Given the description of an element on the screen output the (x, y) to click on. 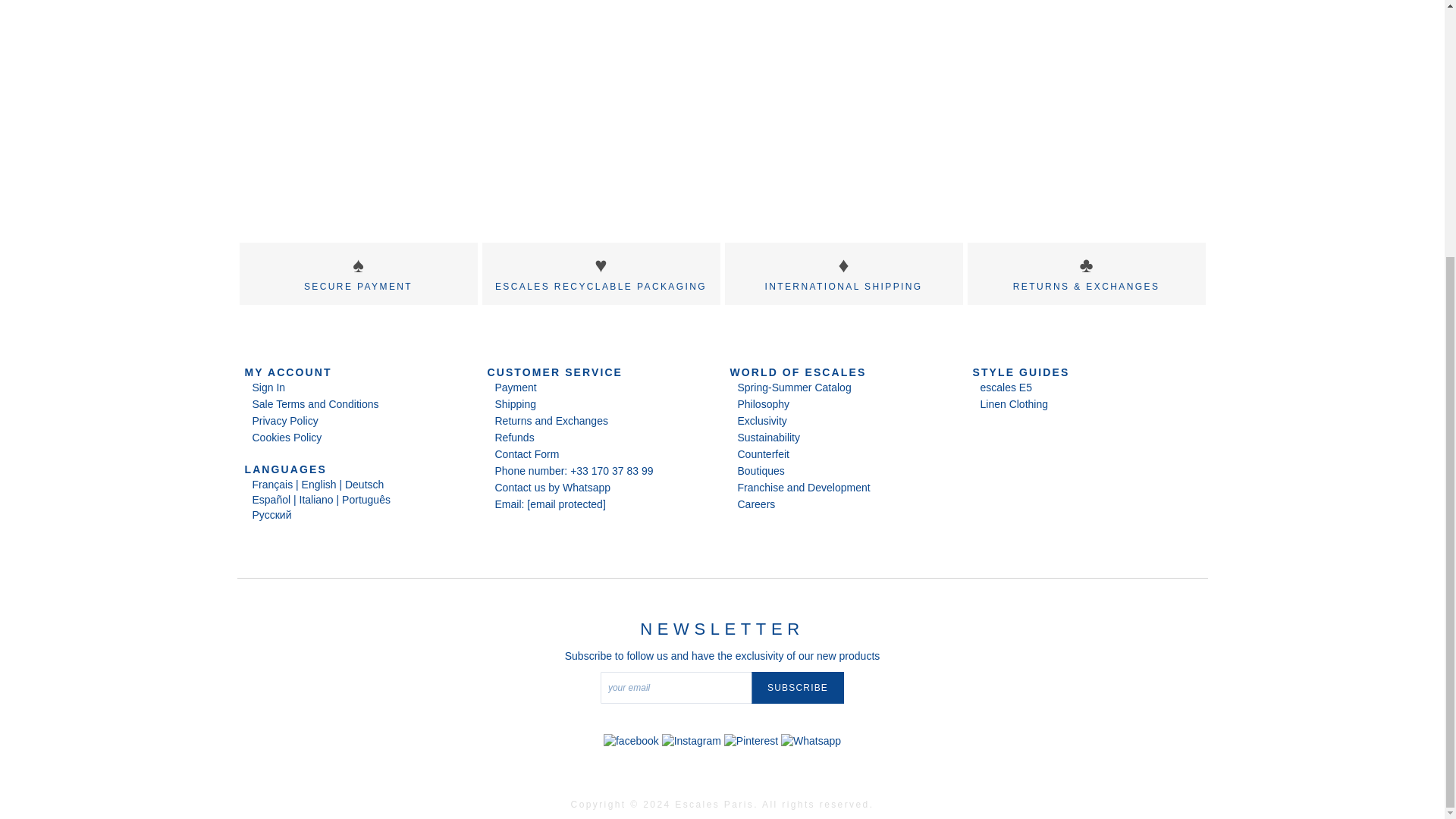
Sign In (268, 387)
Privacy Policy (284, 420)
Sale Terms and Conditions (314, 403)
